Given the description of an element on the screen output the (x, y) to click on. 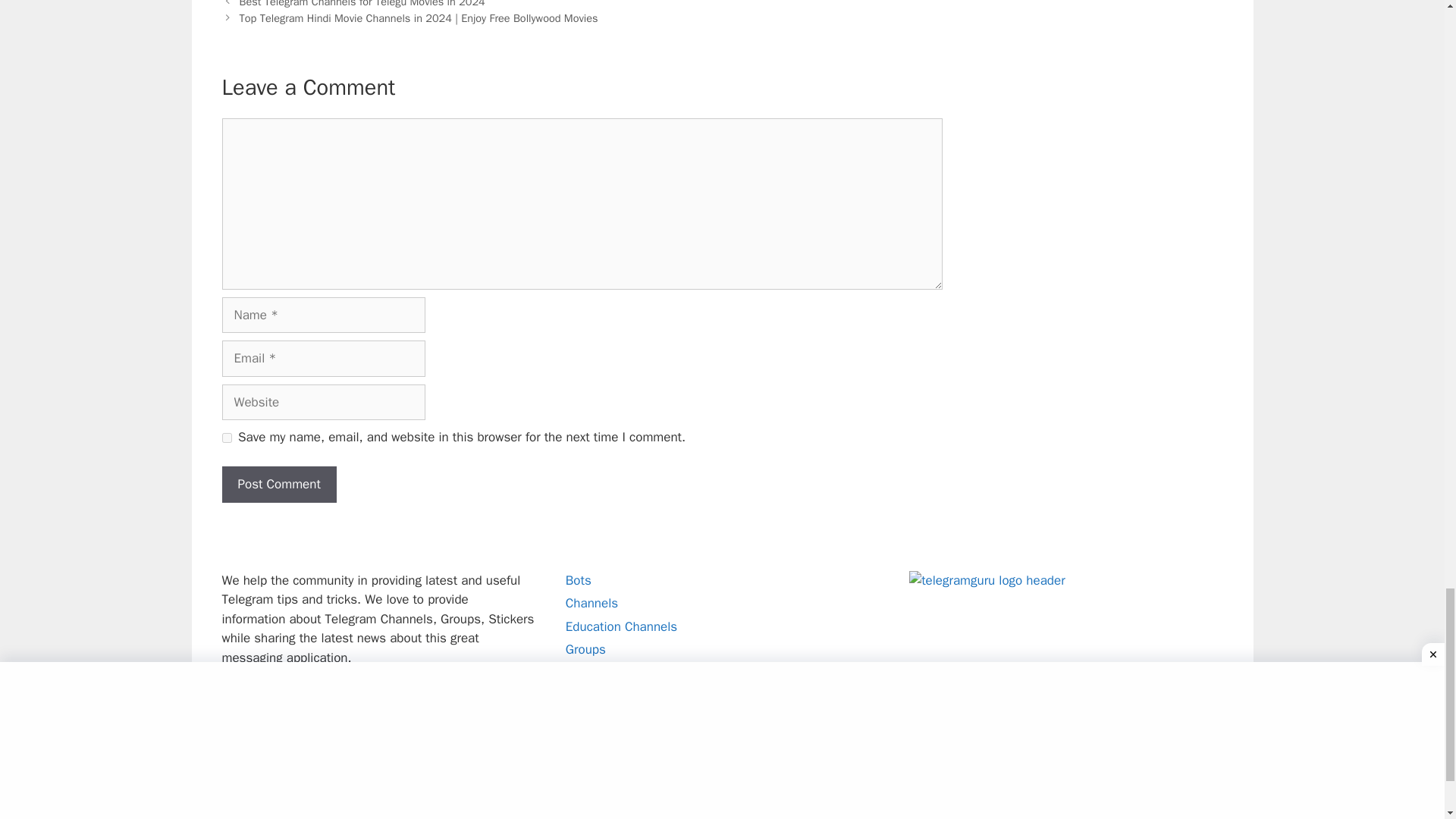
yes (226, 438)
Content Protection by DMCA.com (296, 800)
Post Comment (278, 484)
Best Telegram Channels for Telegu Movies in 2024 (362, 4)
Post Comment (278, 484)
